Given the description of an element on the screen output the (x, y) to click on. 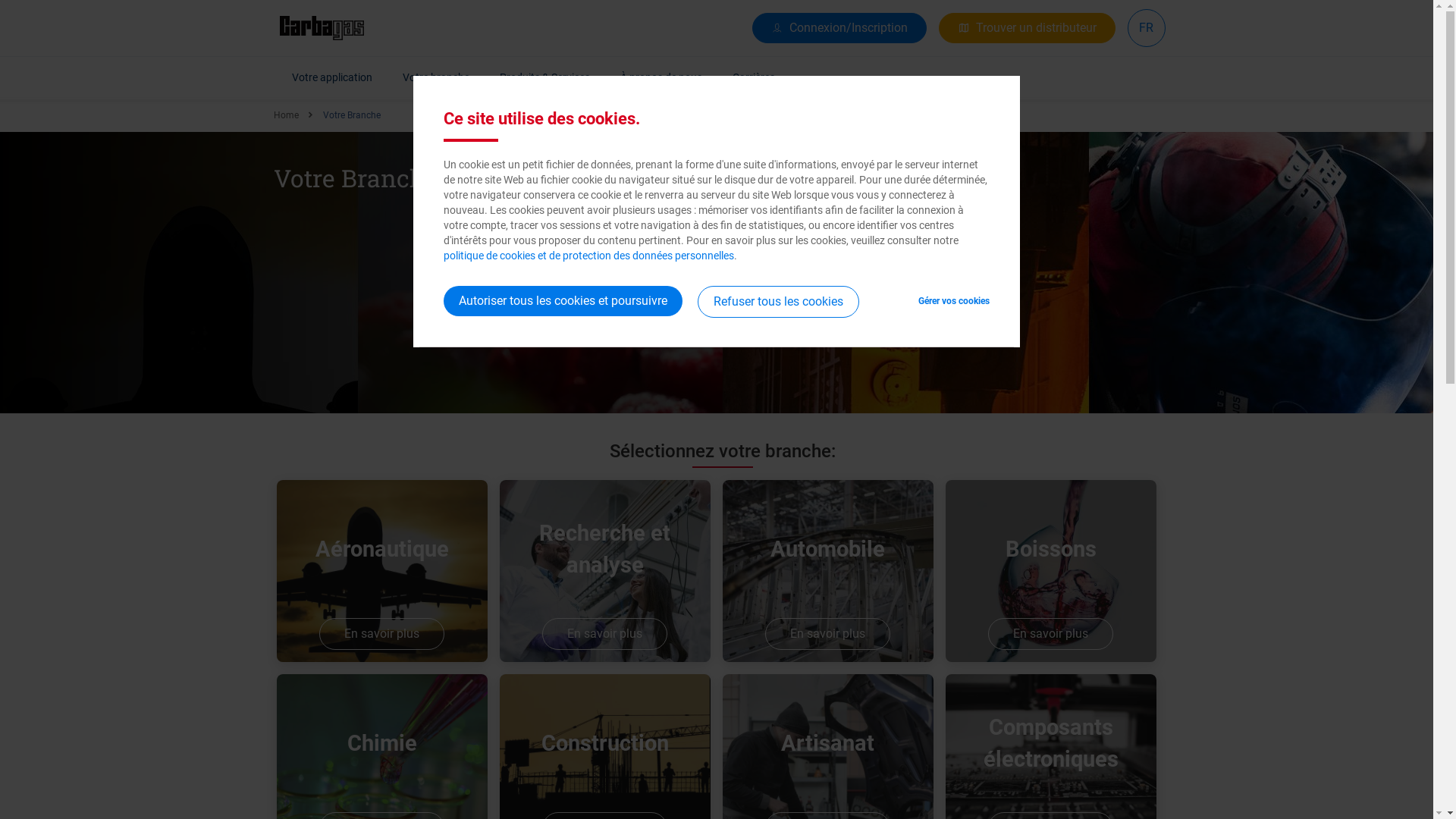
Recherche et analyse
En savoir plus Element type: text (604, 571)
Votre branche Element type: text (434, 77)
Carbagas en Suisse Element type: hover (321, 27)
Produits & Services Element type: text (543, 77)
FR Element type: text (1146, 27)
Automobile
En savoir plus Element type: text (827, 571)
Home Element type: text (285, 114)
Refuser tous les cookies Element type: text (778, 301)
Autoriser tous les cookies et poursuivre Element type: text (562, 300)
Trouver un distributeur Element type: text (1026, 27)
Votre application Element type: text (331, 77)
Connexion/Inscription Element type: text (839, 27)
Skip to main content Element type: text (0, 0)
Boissons
En savoir plus Element type: text (1050, 571)
